Given the description of an element on the screen output the (x, y) to click on. 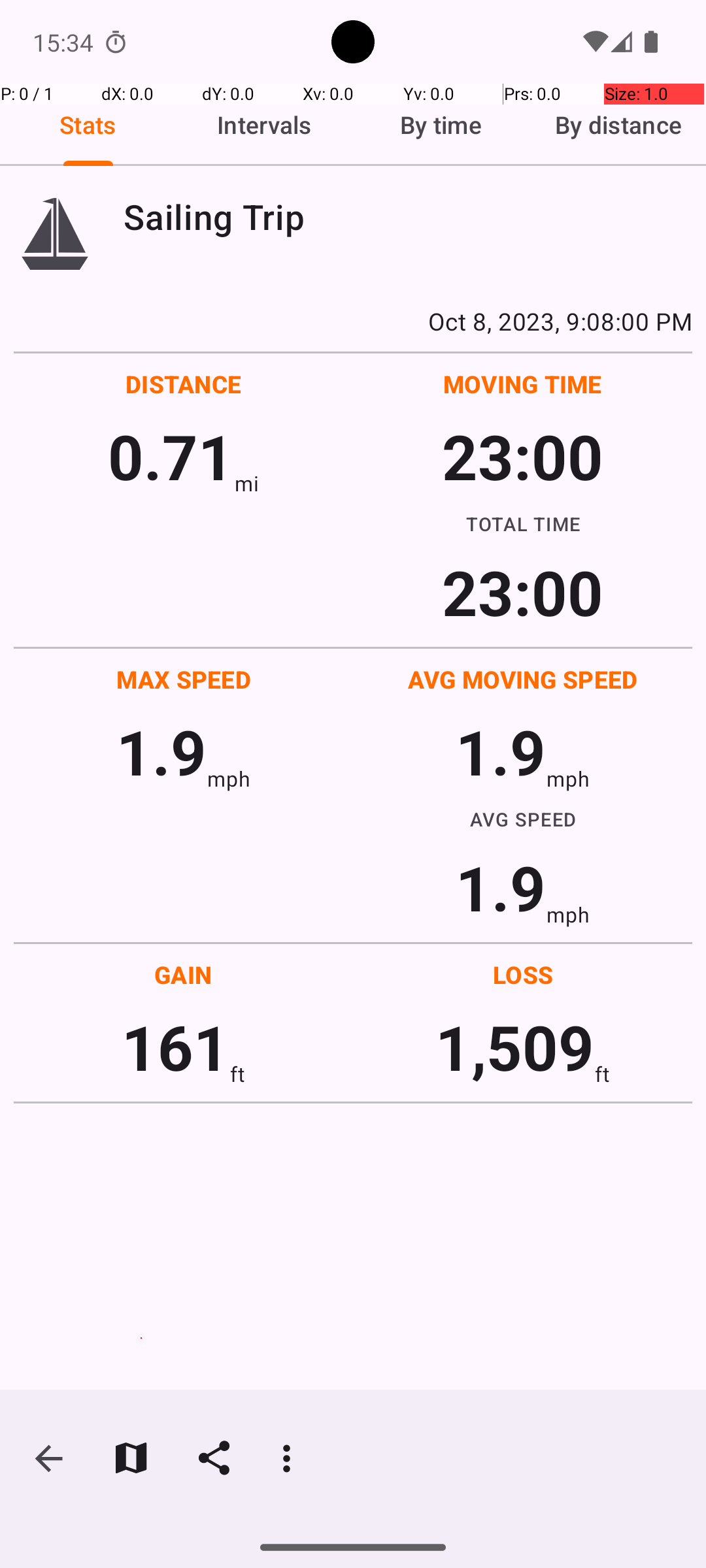
Sailing Trip Element type: android.widget.TextView (407, 216)
Oct 8, 2023, 9:08:00 PM Element type: android.widget.TextView (352, 320)
0.71 Element type: android.widget.TextView (170, 455)
23:00 Element type: android.widget.TextView (522, 455)
1.9 Element type: android.widget.TextView (161, 750)
161 Element type: android.widget.TextView (175, 1045)
1,509 Element type: android.widget.TextView (514, 1045)
